Given the description of an element on the screen output the (x, y) to click on. 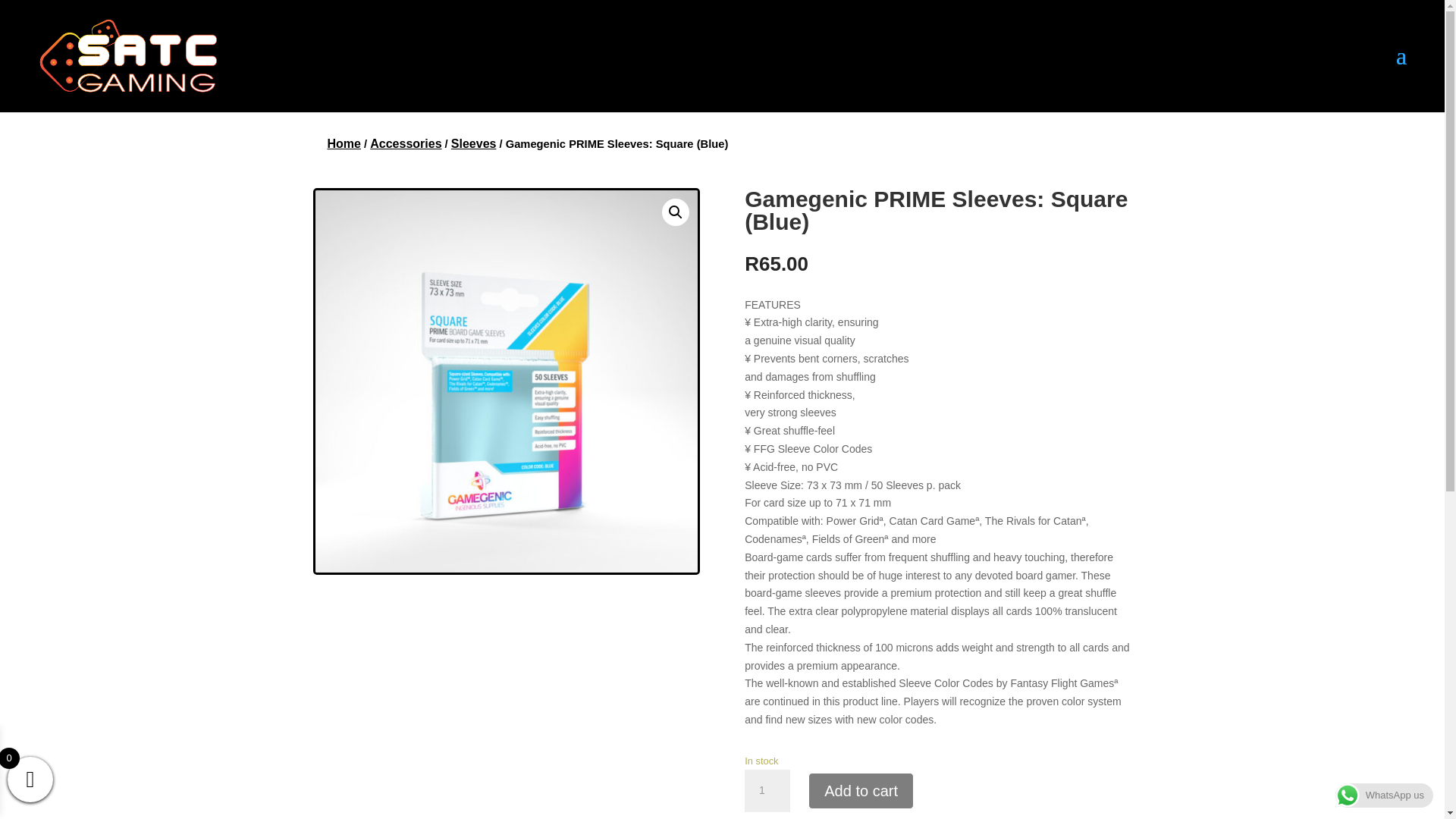
Sleeves (473, 143)
Home (344, 143)
Add to cart (861, 791)
Accessories (405, 143)
1 (767, 790)
